Given the description of an element on the screen output the (x, y) to click on. 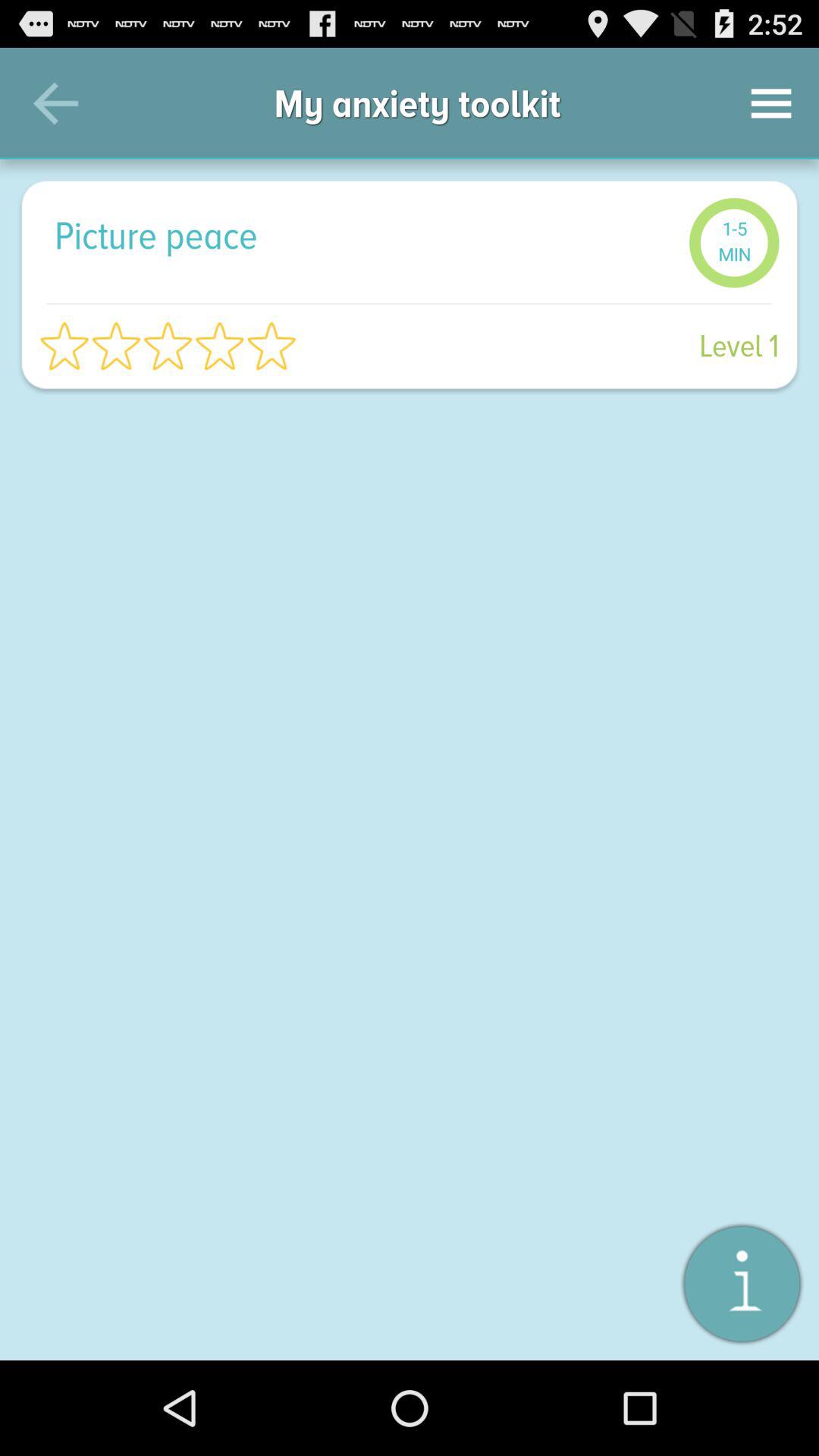
about (742, 1283)
